Given the description of an element on the screen output the (x, y) to click on. 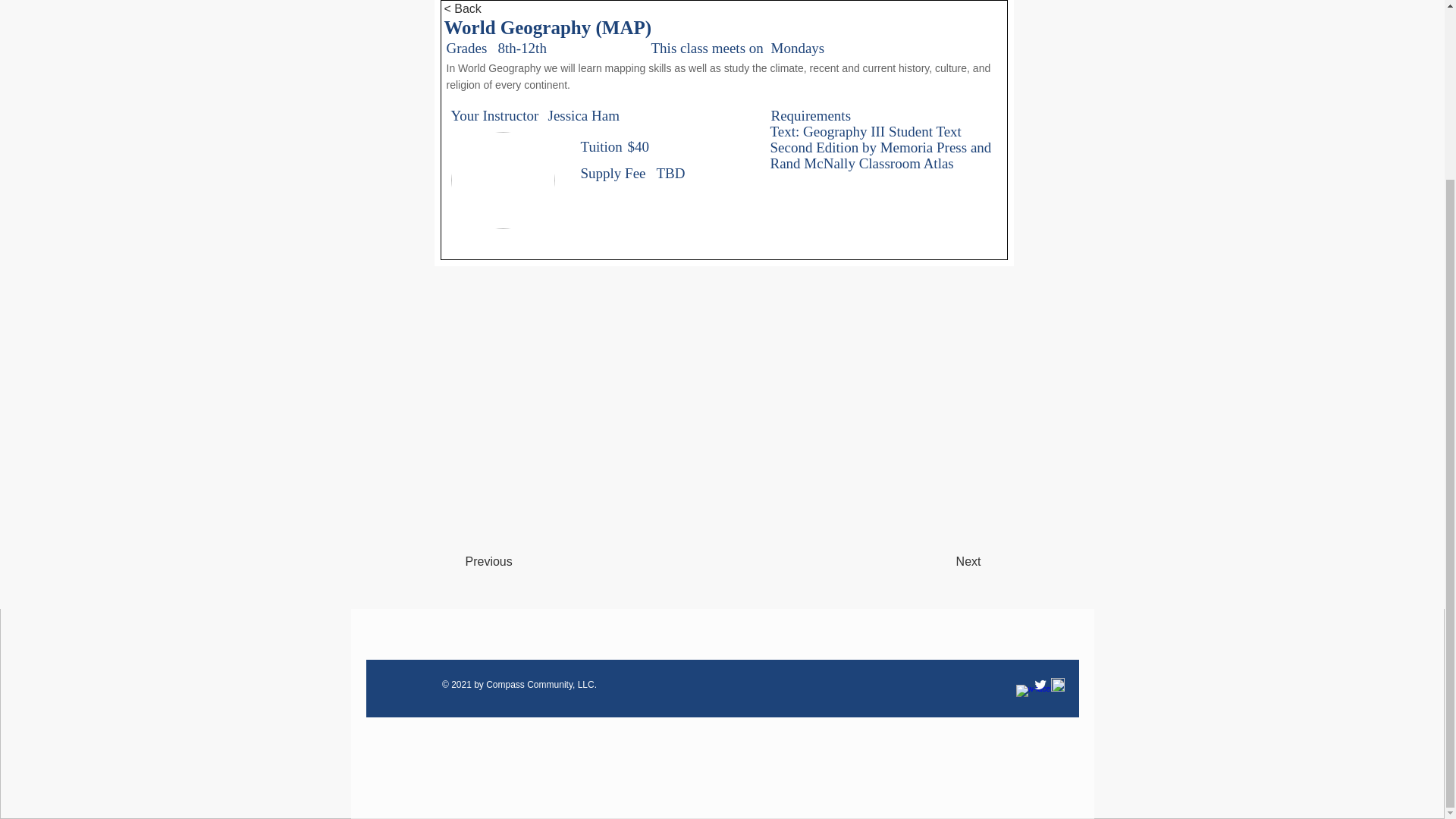
Next (943, 562)
Previous (515, 562)
